Given the description of an element on the screen output the (x, y) to click on. 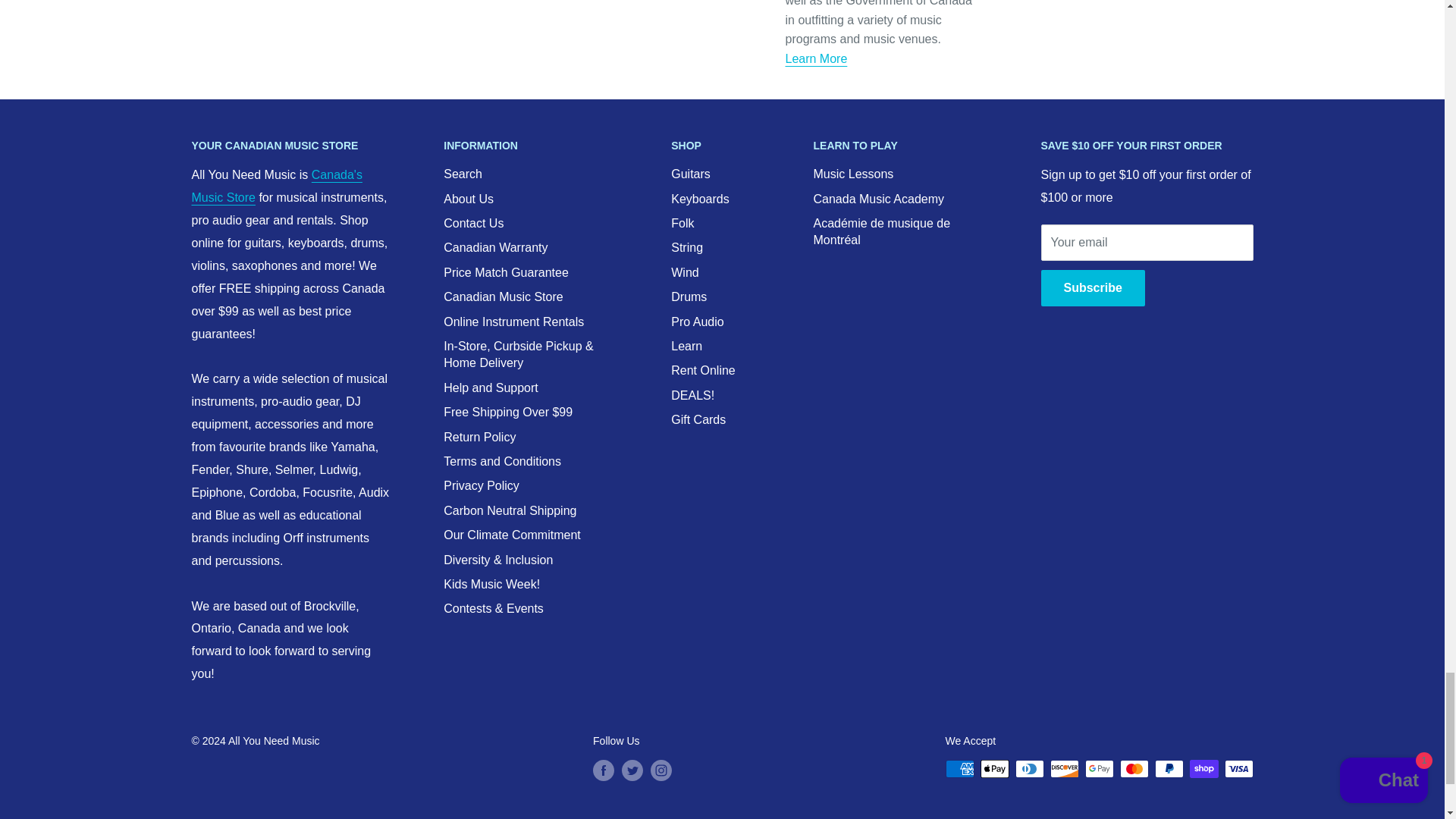
Music Education Department (816, 58)
All You Need Music: Your Canadian Music Store (275, 185)
